Given the description of an element on the screen output the (x, y) to click on. 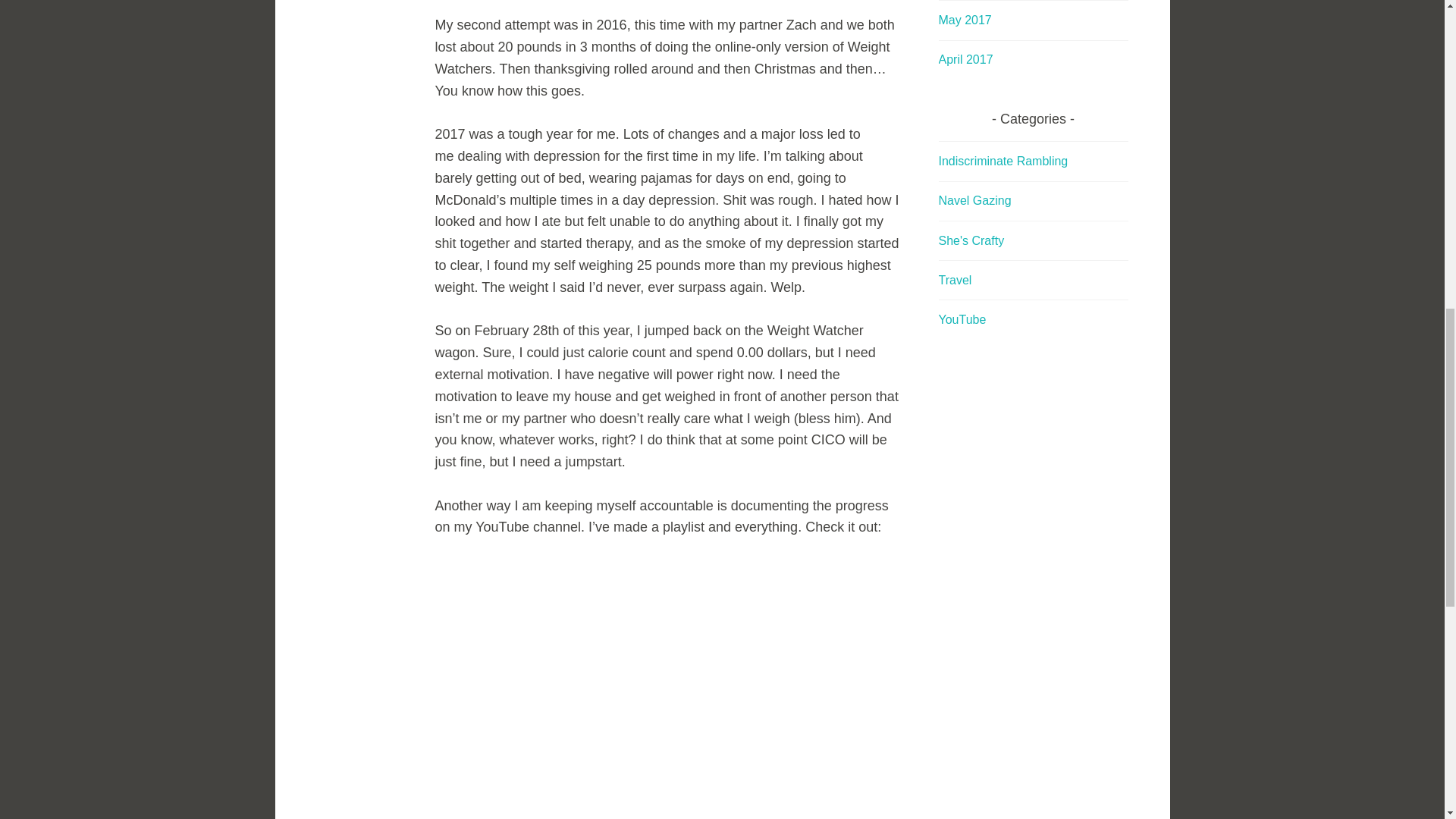
YouTube (963, 318)
Navel Gazing (975, 200)
May 2017 (965, 19)
April 2017 (965, 59)
She's Crafty (971, 240)
Indiscriminate Rambling (1003, 160)
Travel (955, 279)
